Given the description of an element on the screen output the (x, y) to click on. 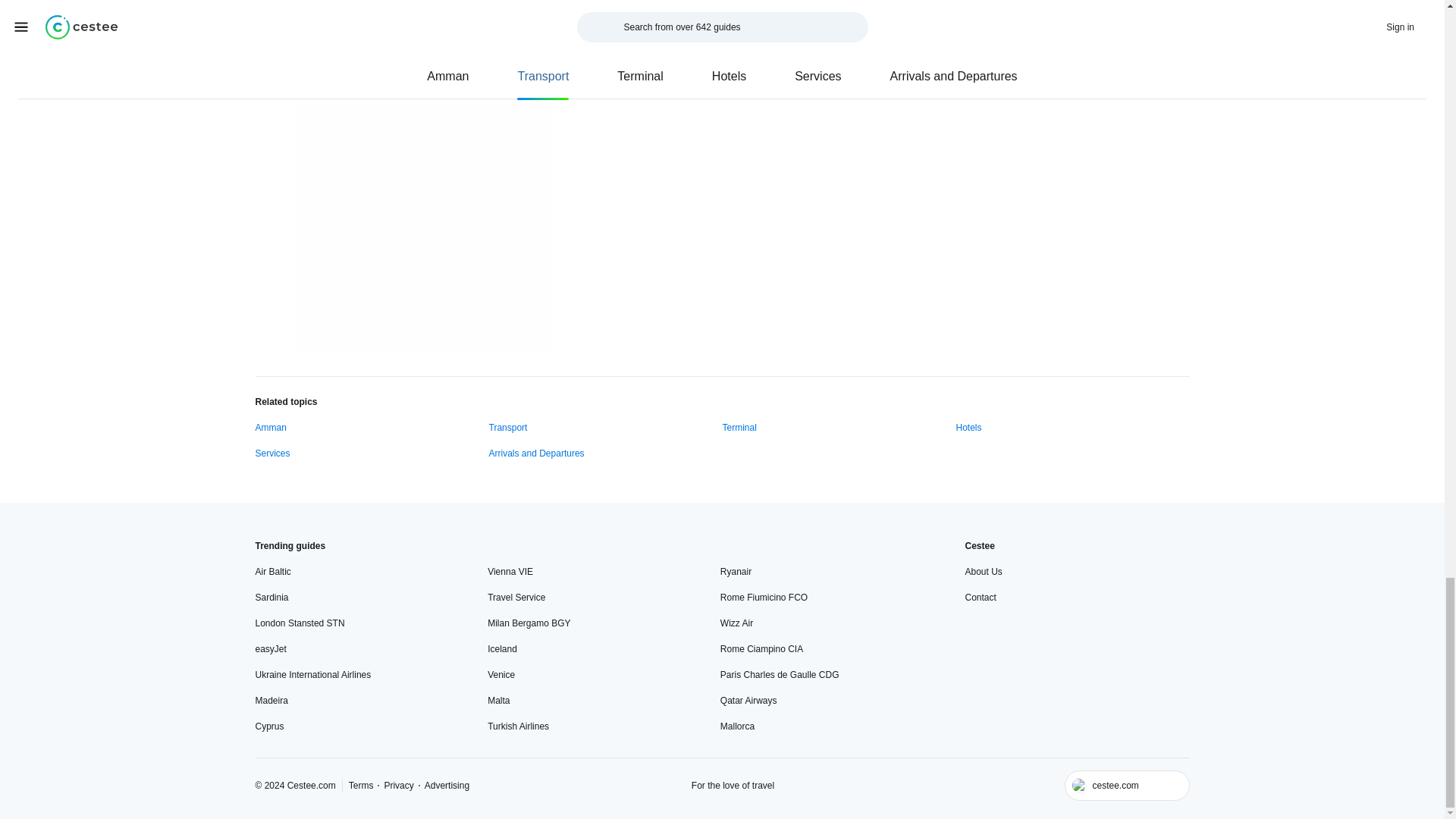
Add a comment... (879, 6)
Sardinia (271, 597)
Vienna VIE (509, 571)
Travel Service (515, 597)
Amman (269, 427)
Services (271, 453)
Hotels (968, 427)
Rome Fiumicino FCO (764, 597)
Transport (507, 427)
Arrivals and Departures (535, 453)
